Given the description of an element on the screen output the (x, y) to click on. 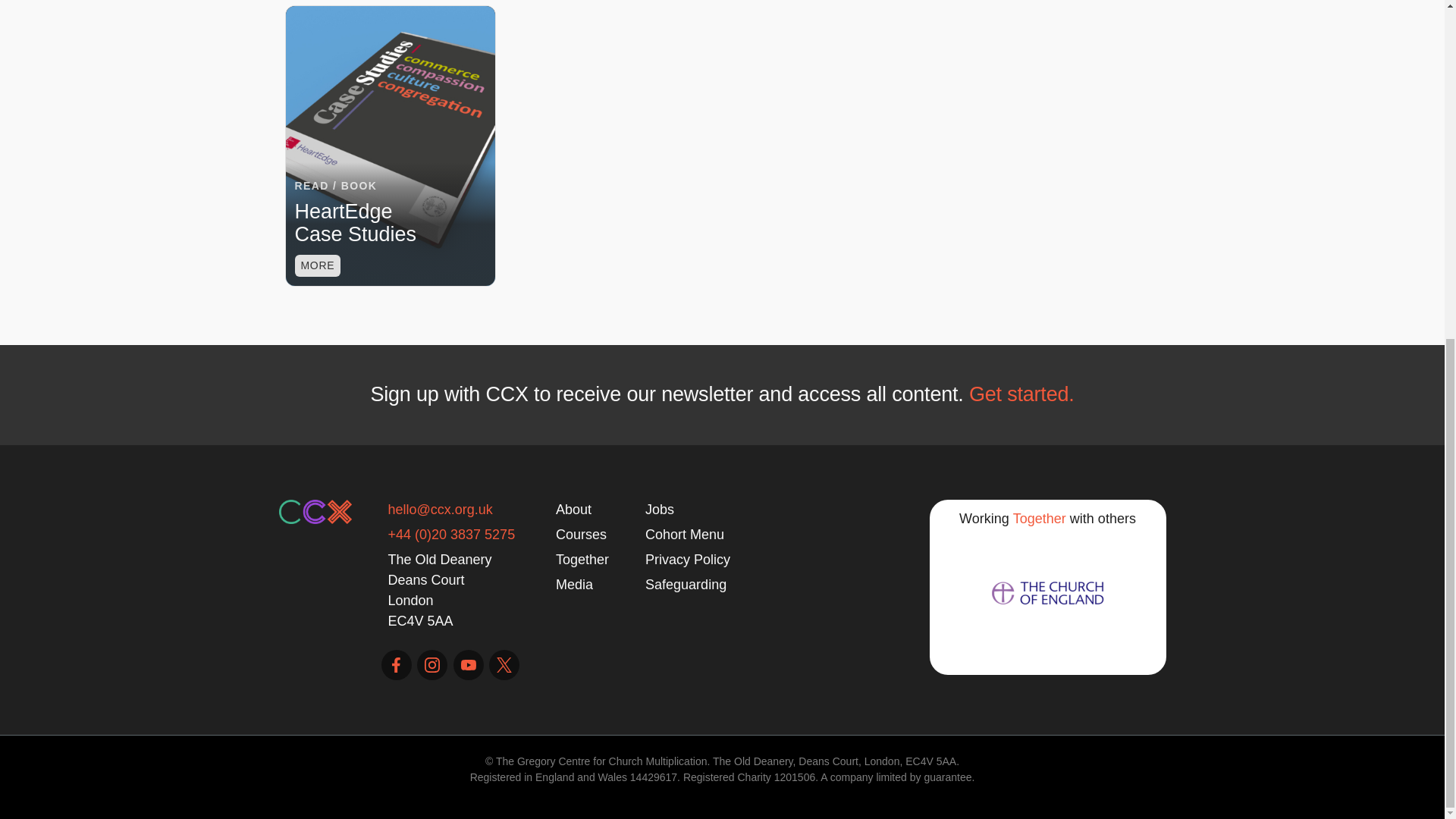
CCX home (315, 511)
CCX on Instagram (431, 665)
CCX on Youtube (467, 665)
CCX on Facebook (395, 665)
